Given the description of an element on the screen output the (x, y) to click on. 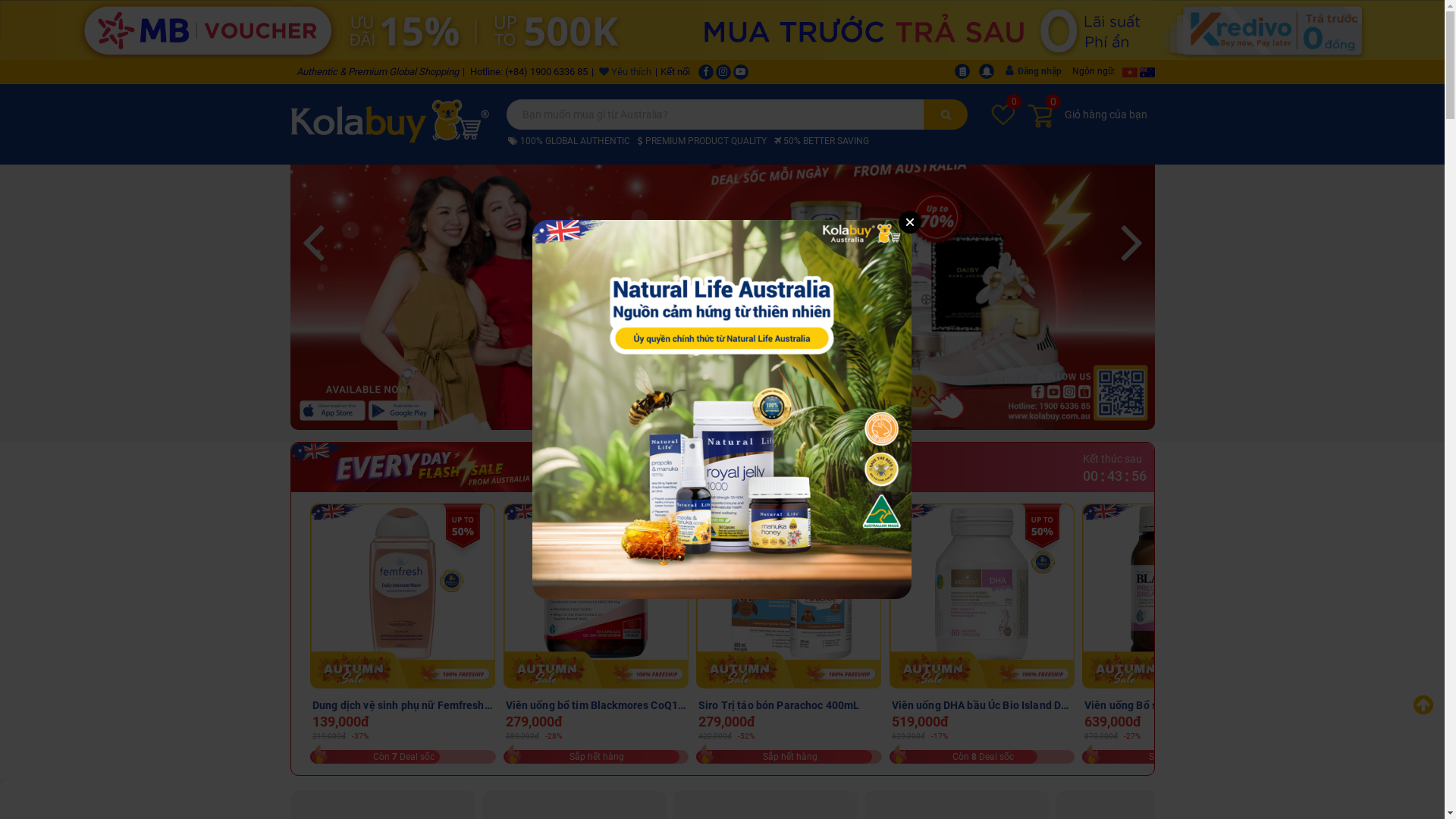
COMBO Element type: text (880, 21)
Close Element type: text (909, 221)
VITAMINS Element type: text (589, 21)
HOME Element type: text (322, 21)
HIRING Element type: text (1037, 21)
ABOUT US Element type: text (1099, 21)
0 Element type: text (1002, 113)
